Given the description of an element on the screen output the (x, y) to click on. 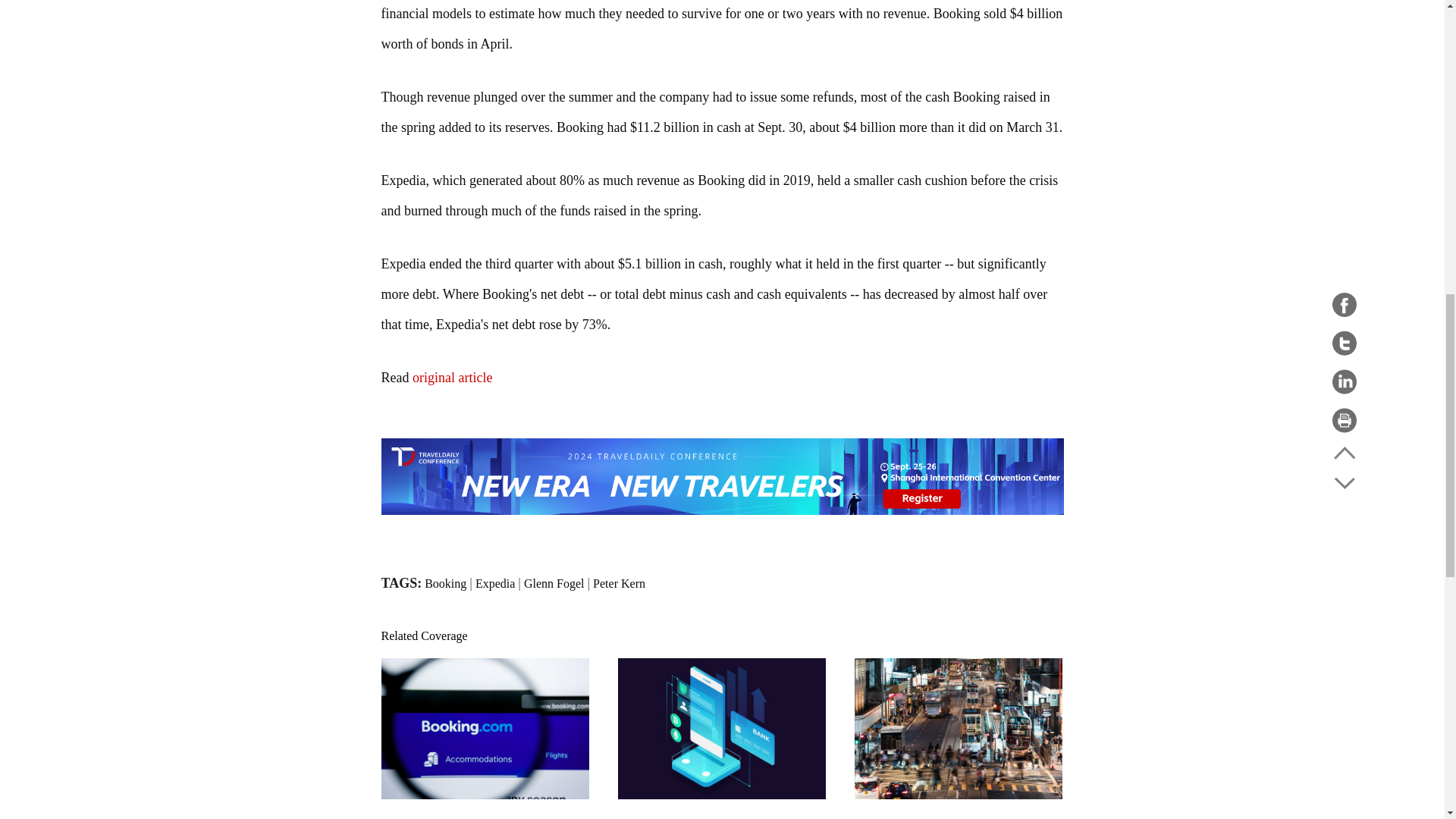
Booking (445, 583)
Peter Kern (618, 583)
original article (452, 377)
Glenn Fogel (554, 583)
Expedia (495, 583)
